Given the description of an element on the screen output the (x, y) to click on. 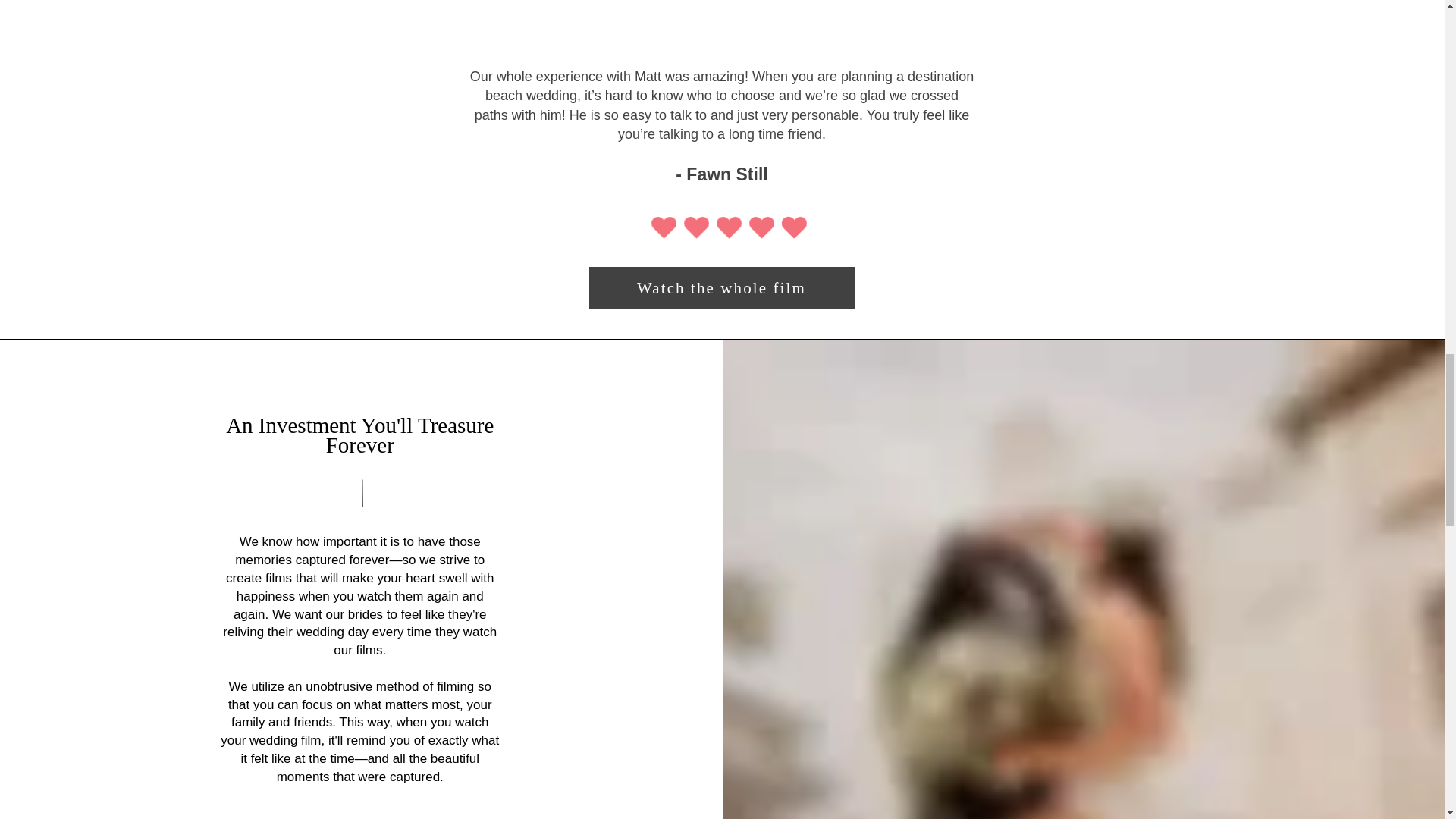
Watch the whole film (720, 287)
